Given the description of an element on the screen output the (x, y) to click on. 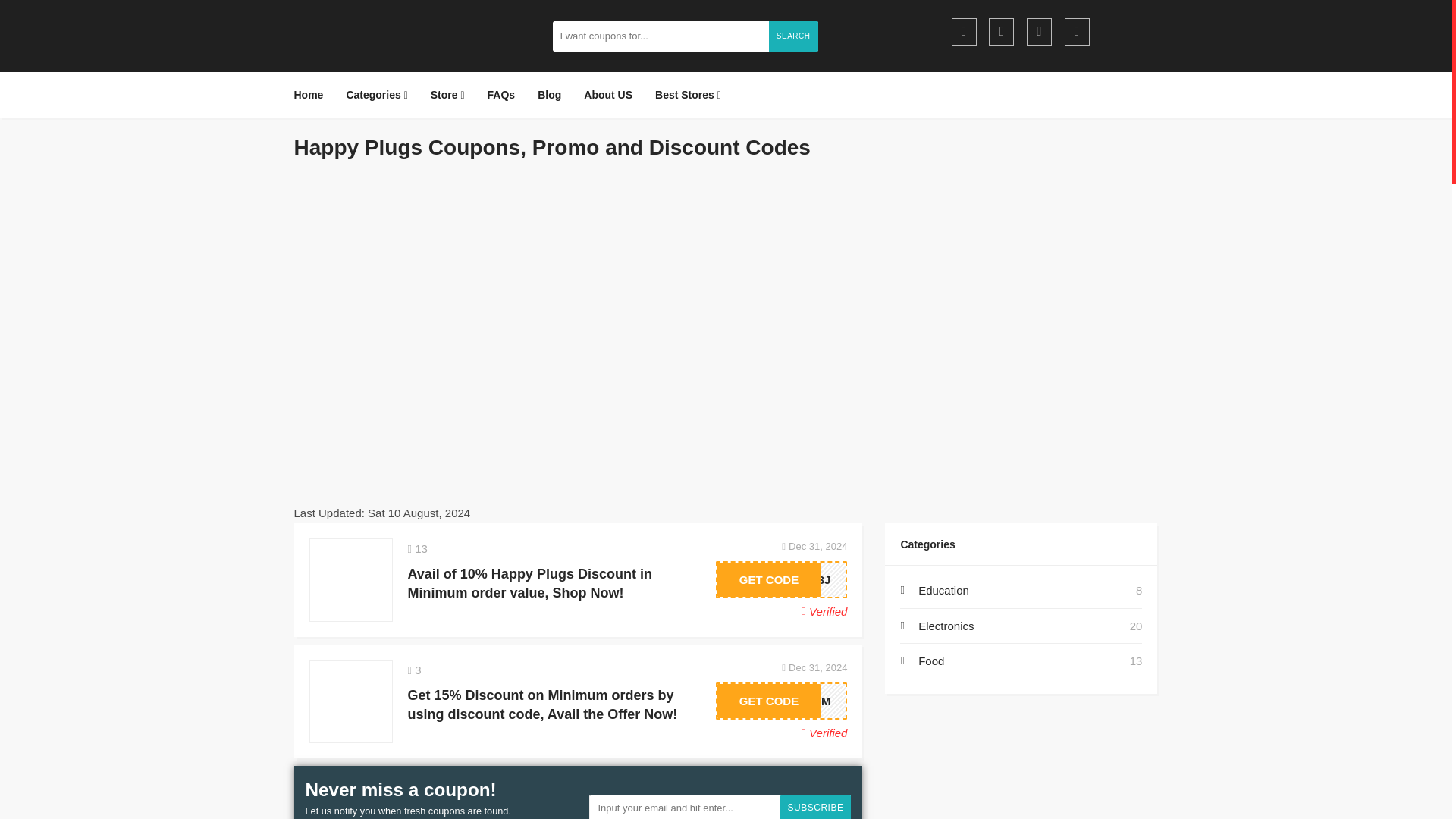
Categories (376, 94)
Best Stores (687, 94)
Home (314, 94)
About US (607, 94)
FAQs (501, 94)
Store (447, 94)
FAQs (501, 94)
Categories (376, 94)
Store (447, 94)
SEARCH (793, 36)
